Given the description of an element on the screen output the (x, y) to click on. 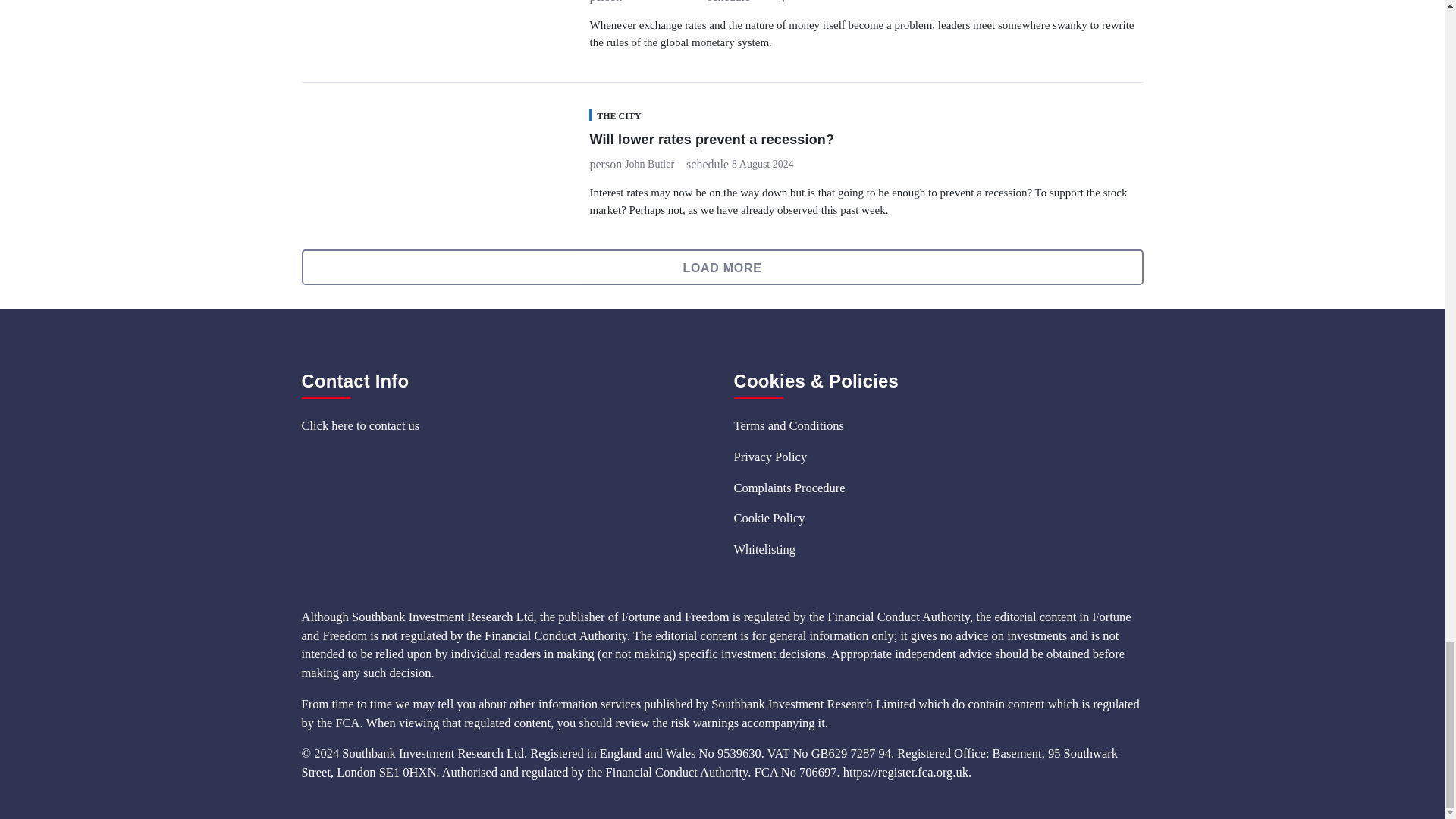
Will lower rates prevent a recession? (711, 139)
Nickolai Hubble (659, 2)
THE CITY (614, 115)
